Given the description of an element on the screen output the (x, y) to click on. 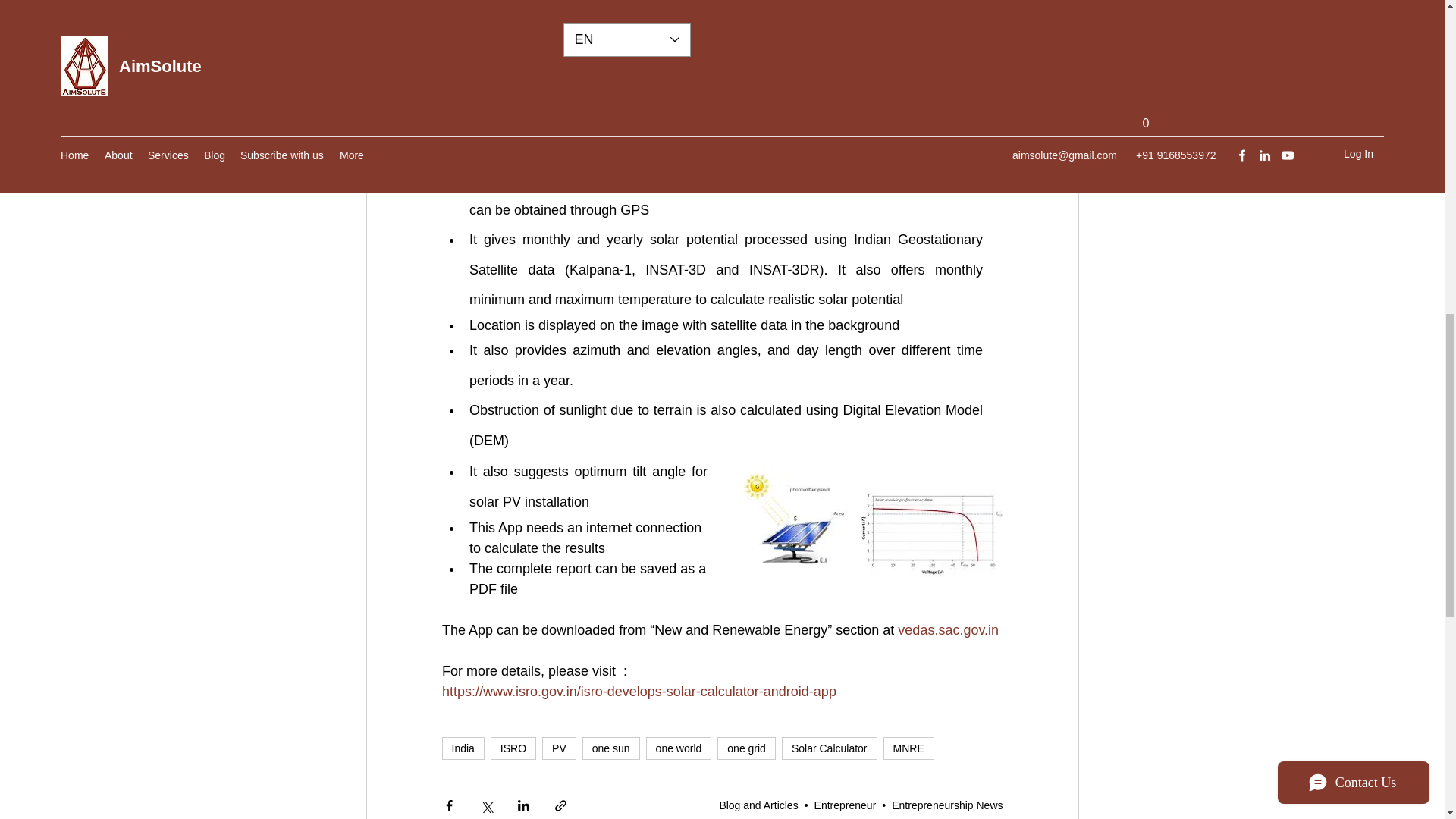
one world (678, 748)
India (462, 748)
Solar Calculator (829, 748)
one sun (611, 748)
PV (558, 748)
vedas.sac.gov.in (948, 630)
ISRO (512, 748)
one grid (746, 748)
MNRE (908, 748)
